Given the description of an element on the screen output the (x, y) to click on. 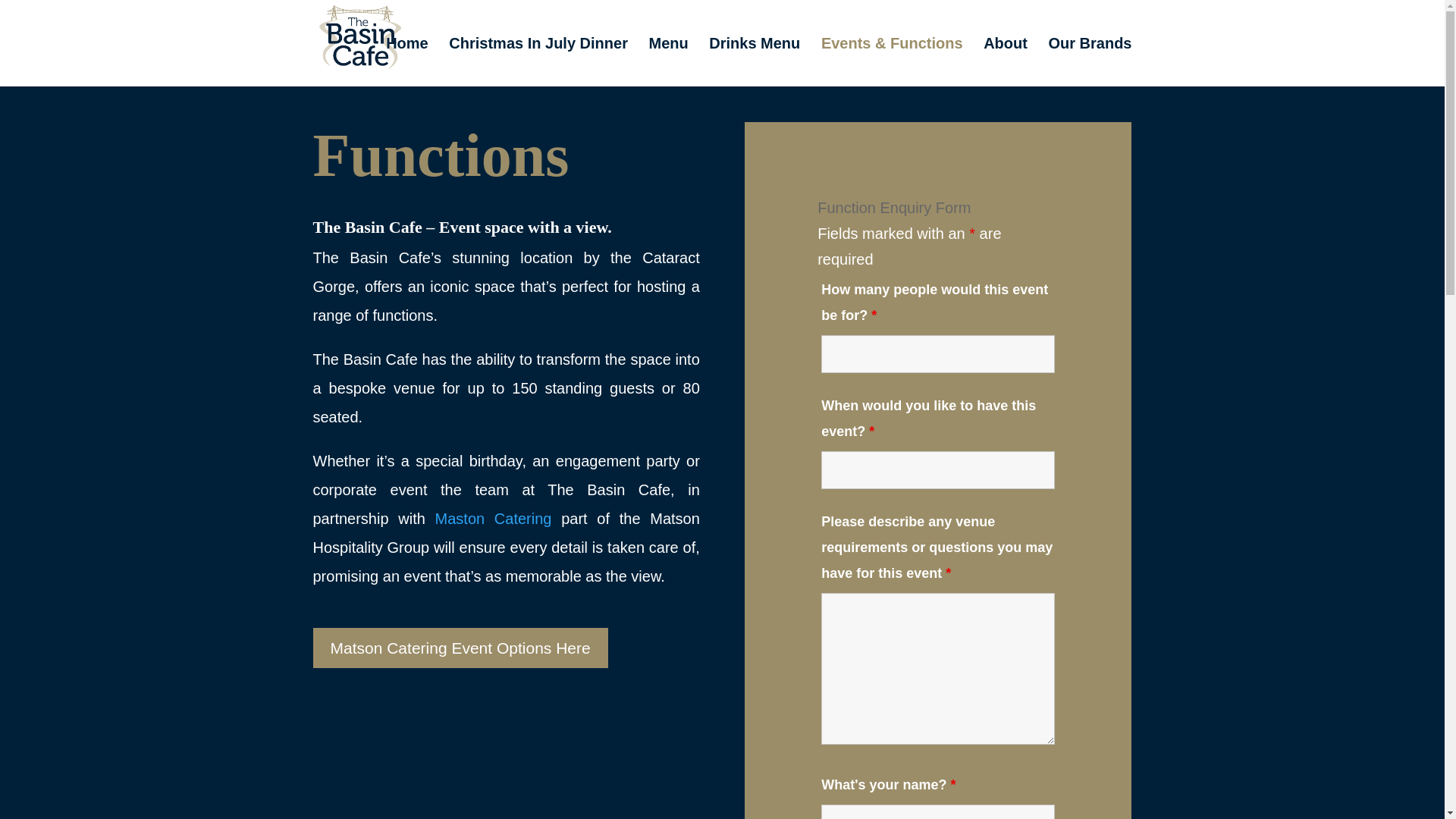
Matson Catering  (498, 518)
Christmas In July Dinner (537, 61)
Our Brands (1089, 61)
Drinks Menu (754, 61)
Maston Catering (498, 518)
About (1005, 61)
Matson Catering Event Options Here (460, 647)
